Given the description of an element on the screen output the (x, y) to click on. 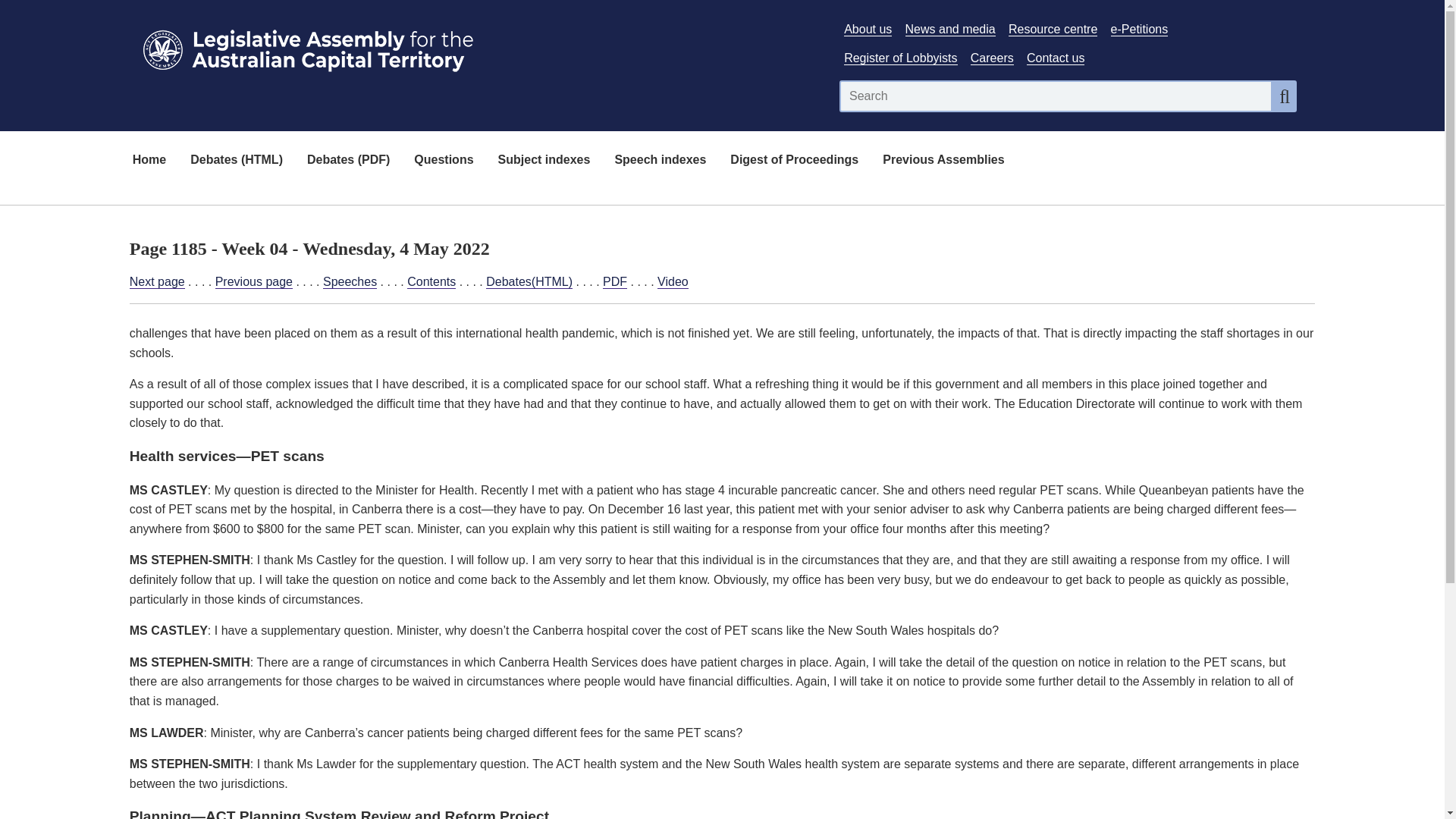
Contents (431, 282)
Resource centre (1053, 29)
Search input field (1056, 96)
Careers (992, 58)
Previous Assemblies (943, 160)
Link to Careers (992, 58)
Video (673, 282)
Speeches (350, 282)
Link to Register of Lobbyists (900, 58)
Contact us (1055, 58)
